Given the description of an element on the screen output the (x, y) to click on. 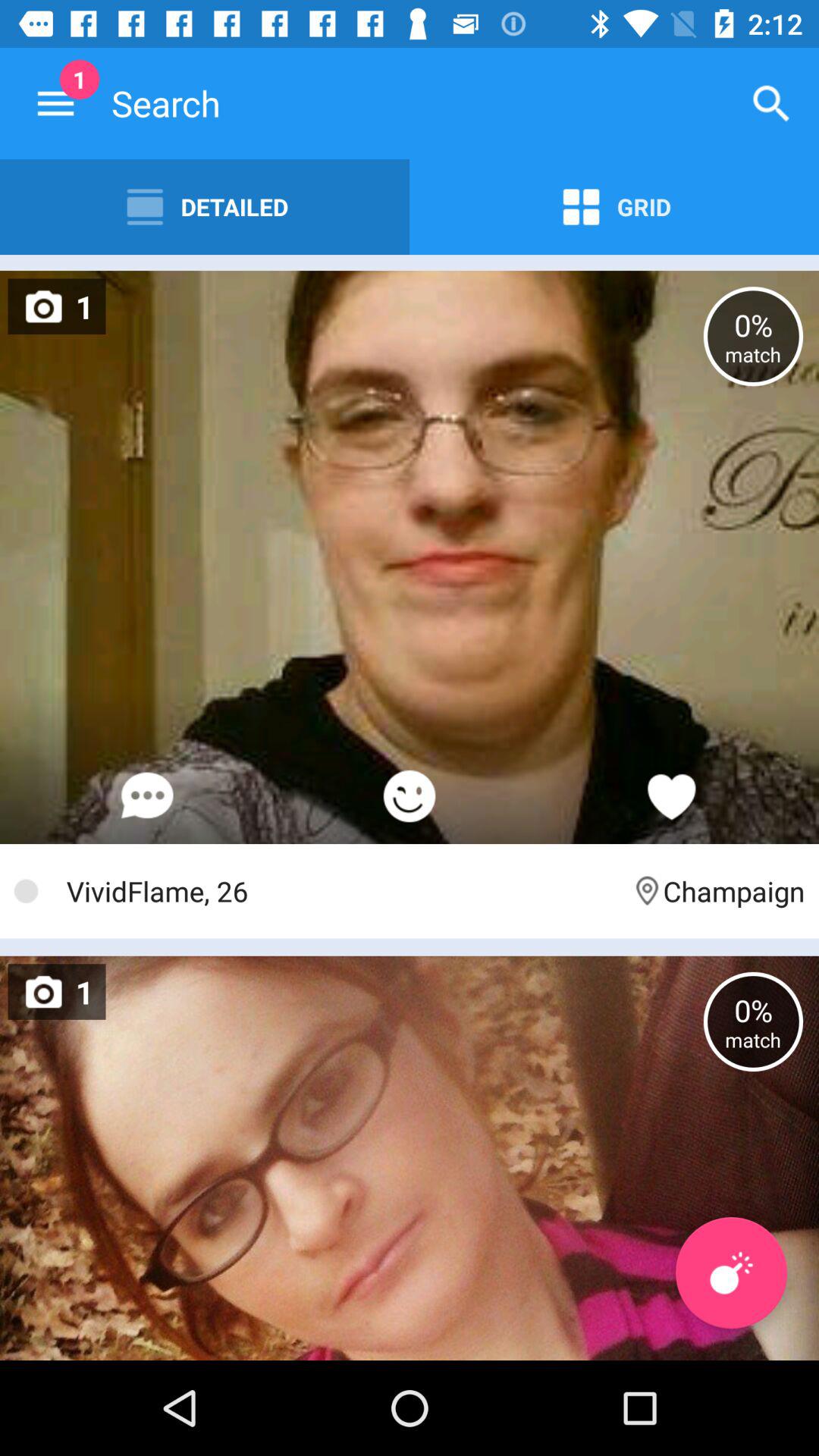
choose the icon next to the champaign item (341, 891)
